Given the description of an element on the screen output the (x, y) to click on. 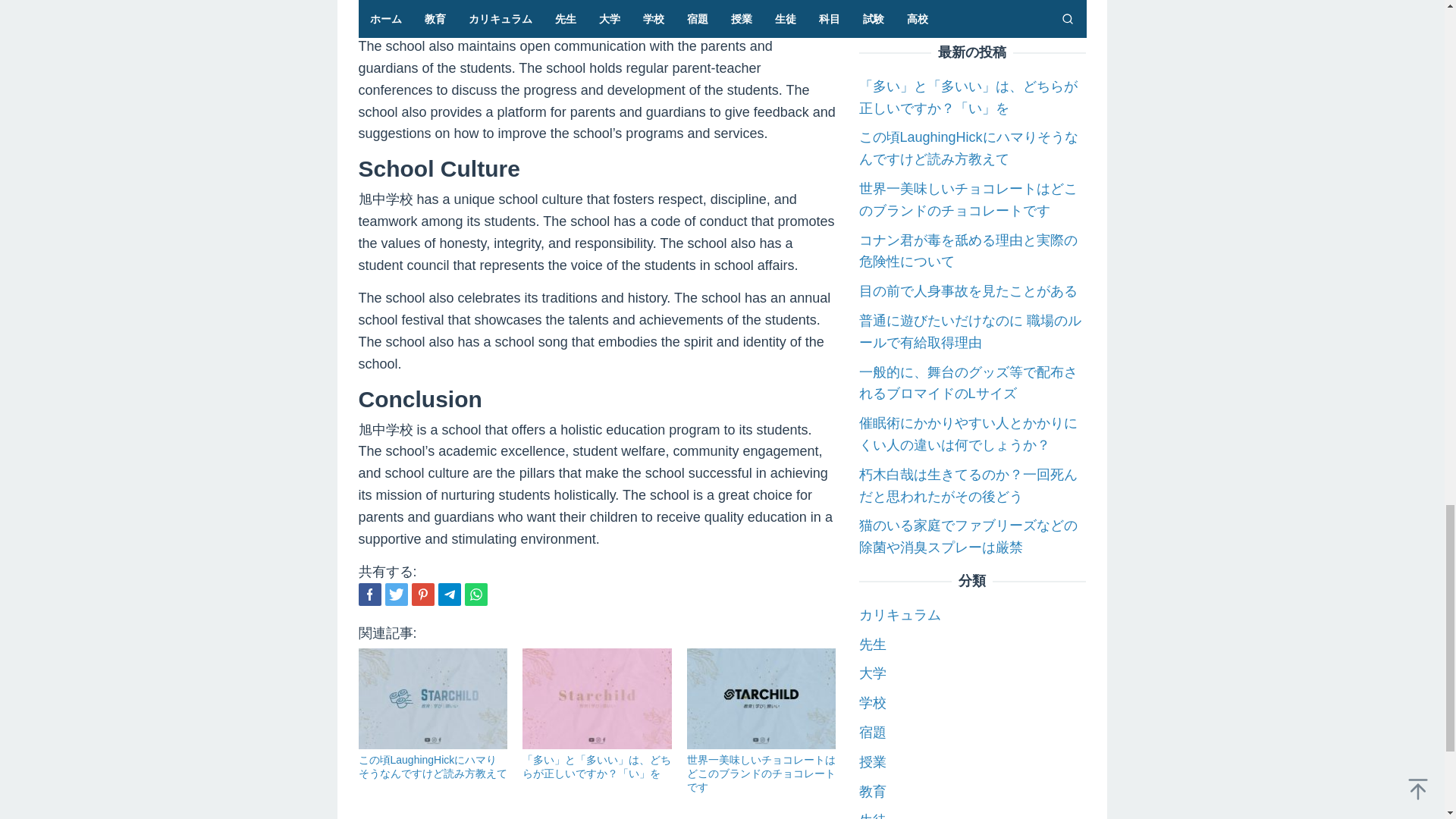
Pin this (421, 594)
Tweet this (396, 594)
Share this (369, 594)
Whatsapp (475, 594)
Telegram Share (449, 594)
